Given the description of an element on the screen output the (x, y) to click on. 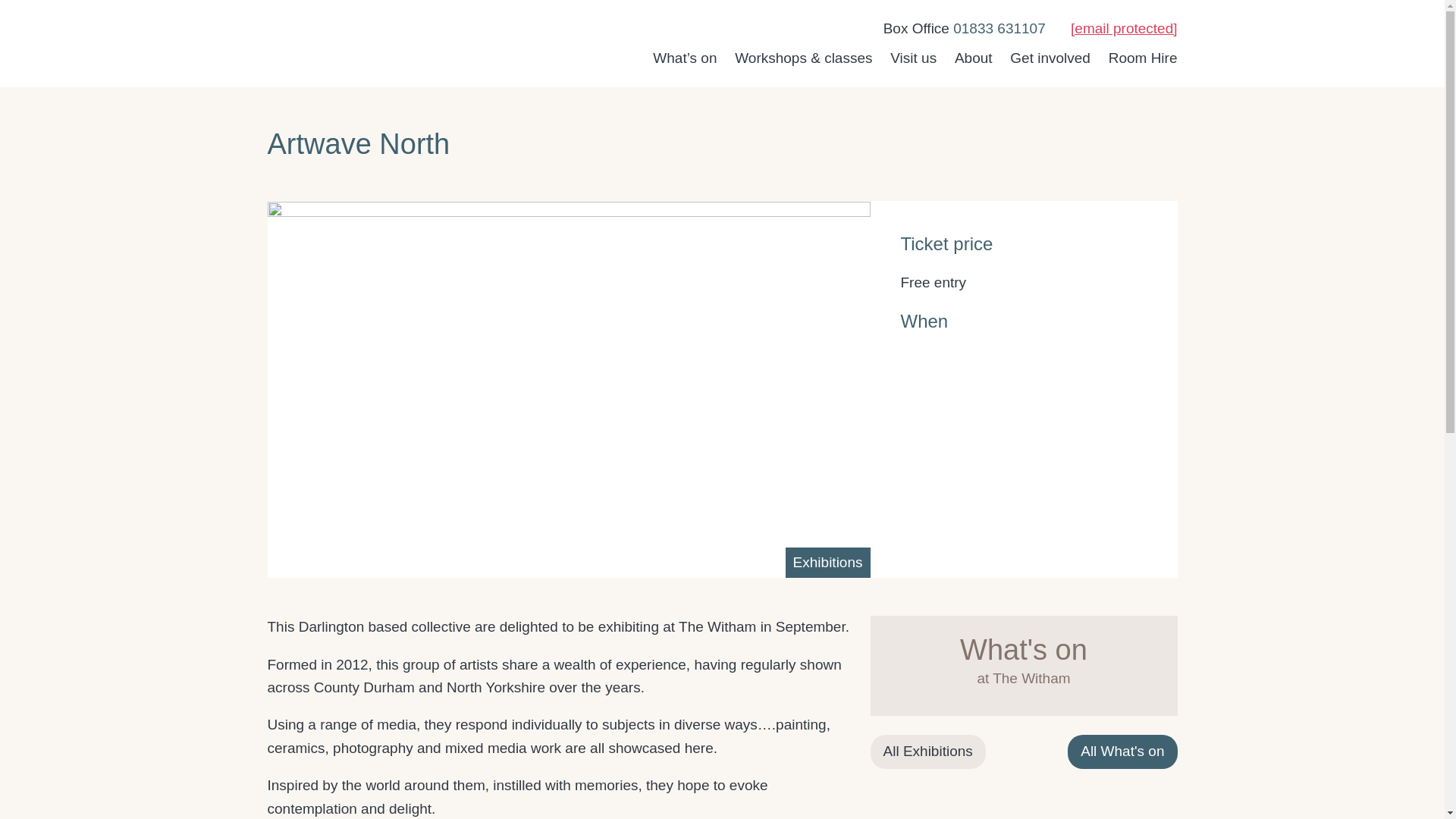
Exhibitions (828, 562)
All Exhibitions (927, 751)
Room Hire (1142, 57)
About (973, 57)
Get involved (1050, 57)
All What's on (1121, 751)
Visit us (912, 57)
